Given the description of an element on the screen output the (x, y) to click on. 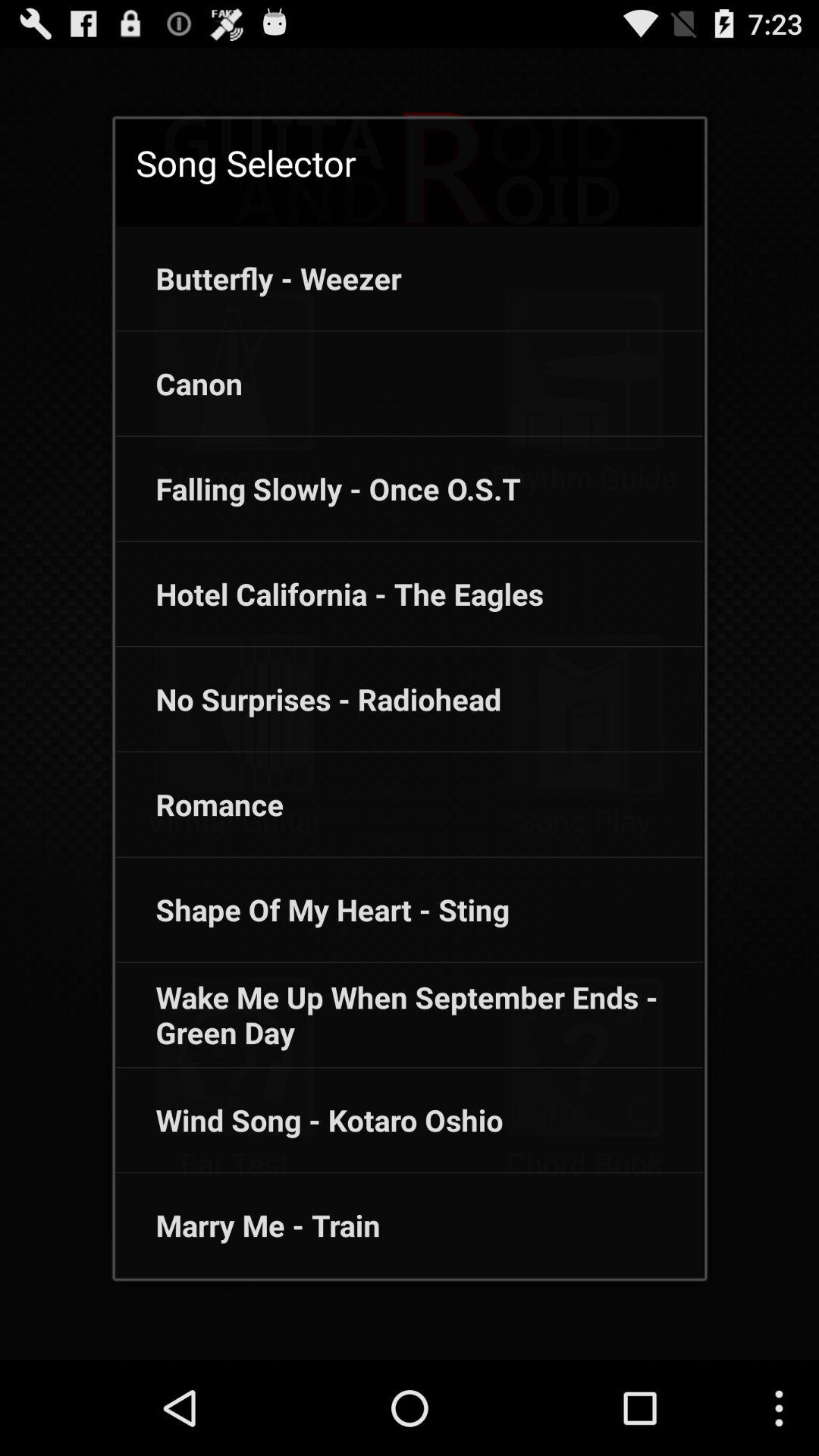
select hotel california the item (329, 593)
